Given the description of an element on the screen output the (x, y) to click on. 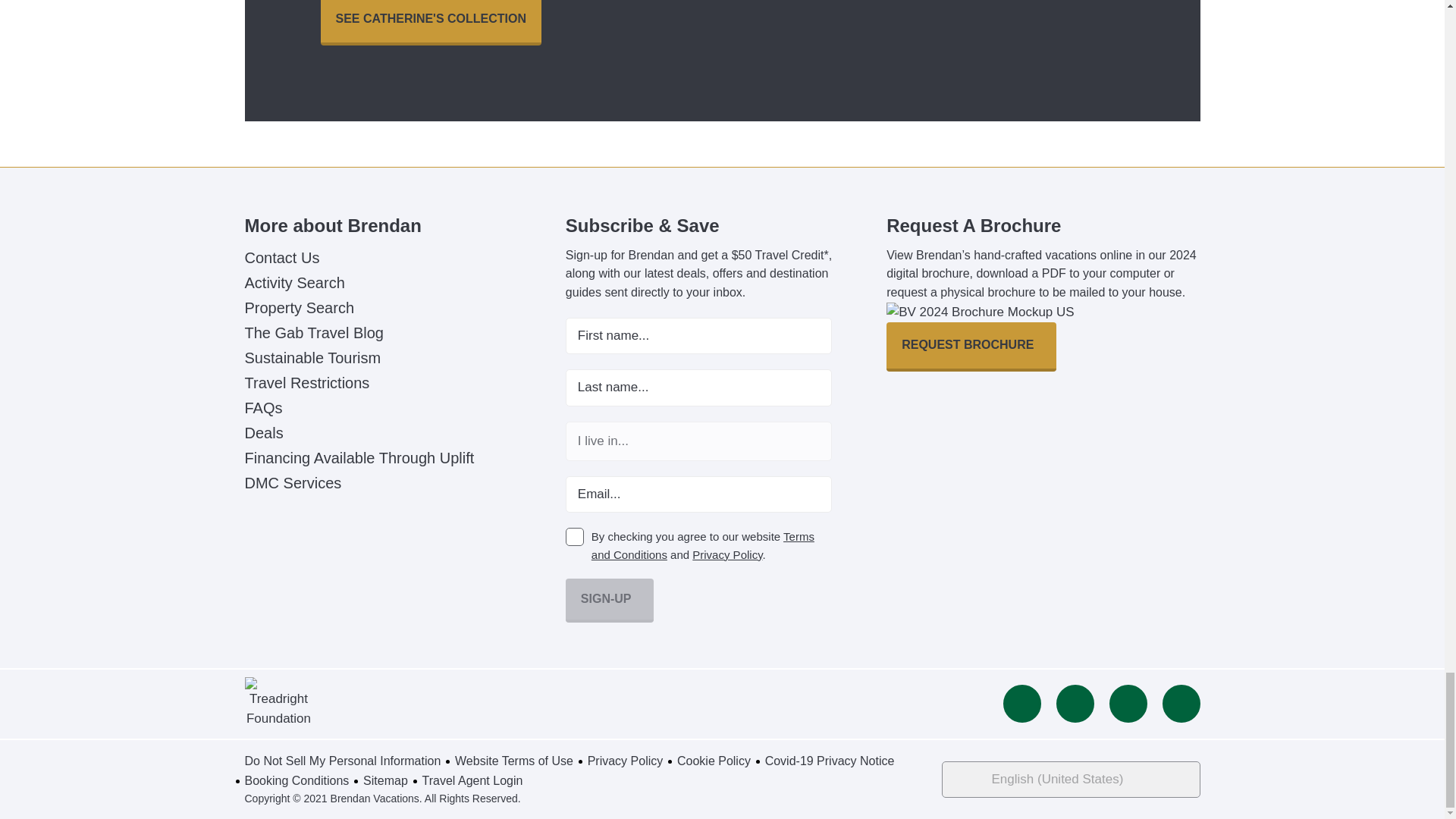
Activity Search (293, 282)
Property Search (298, 307)
The Gab Travel Blog (313, 332)
Deals (263, 433)
Financing Available Through Uplift (359, 457)
Travel Restrictions (306, 382)
Privacy Policy (727, 554)
FAQs (263, 407)
DMC Services (292, 483)
Contact Us (281, 257)
Request Brochure (971, 346)
Sustainable Tourism (312, 357)
